Given the description of an element on the screen output the (x, y) to click on. 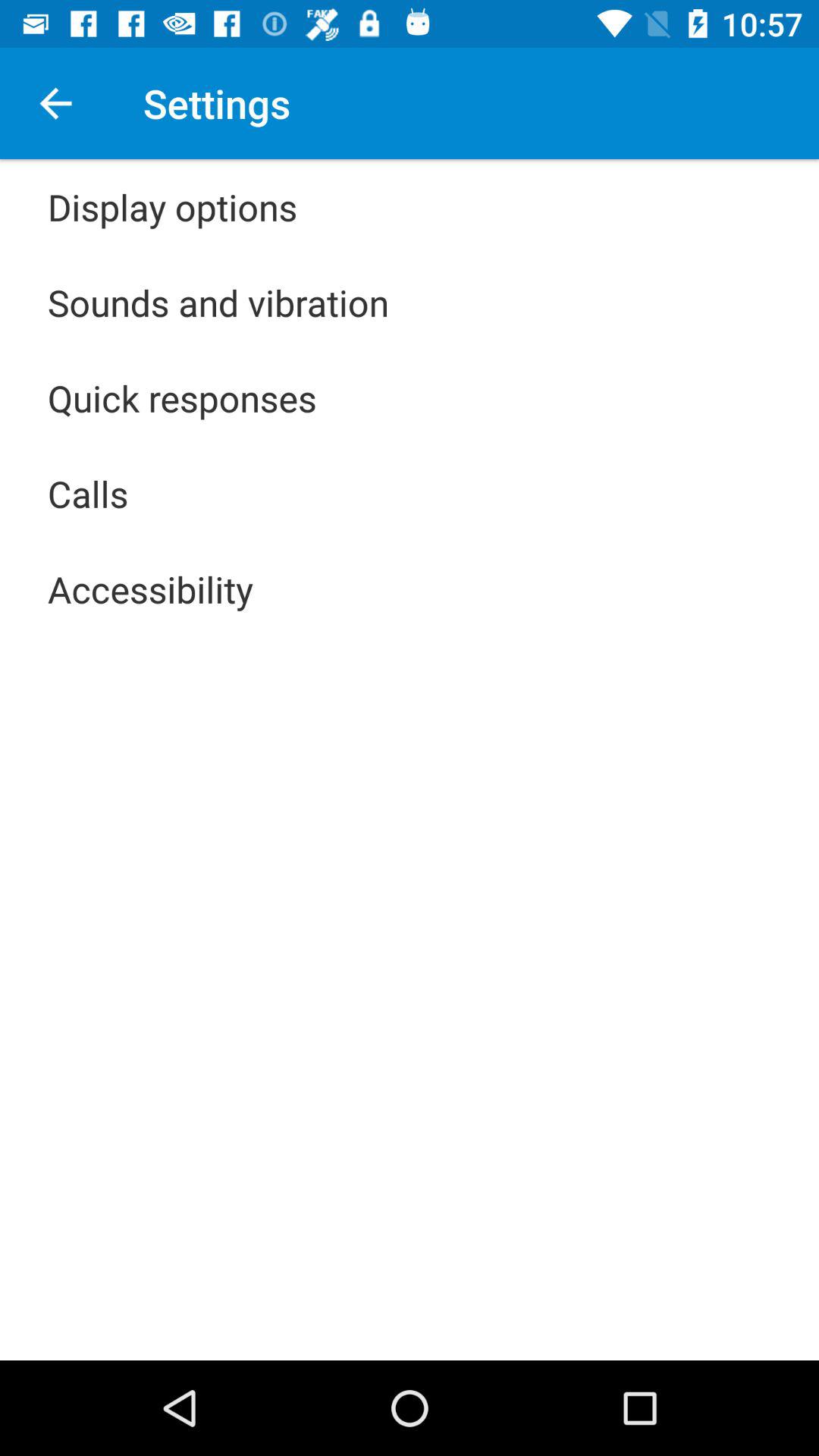
choose the icon below the quick responses (87, 493)
